Given the description of an element on the screen output the (x, y) to click on. 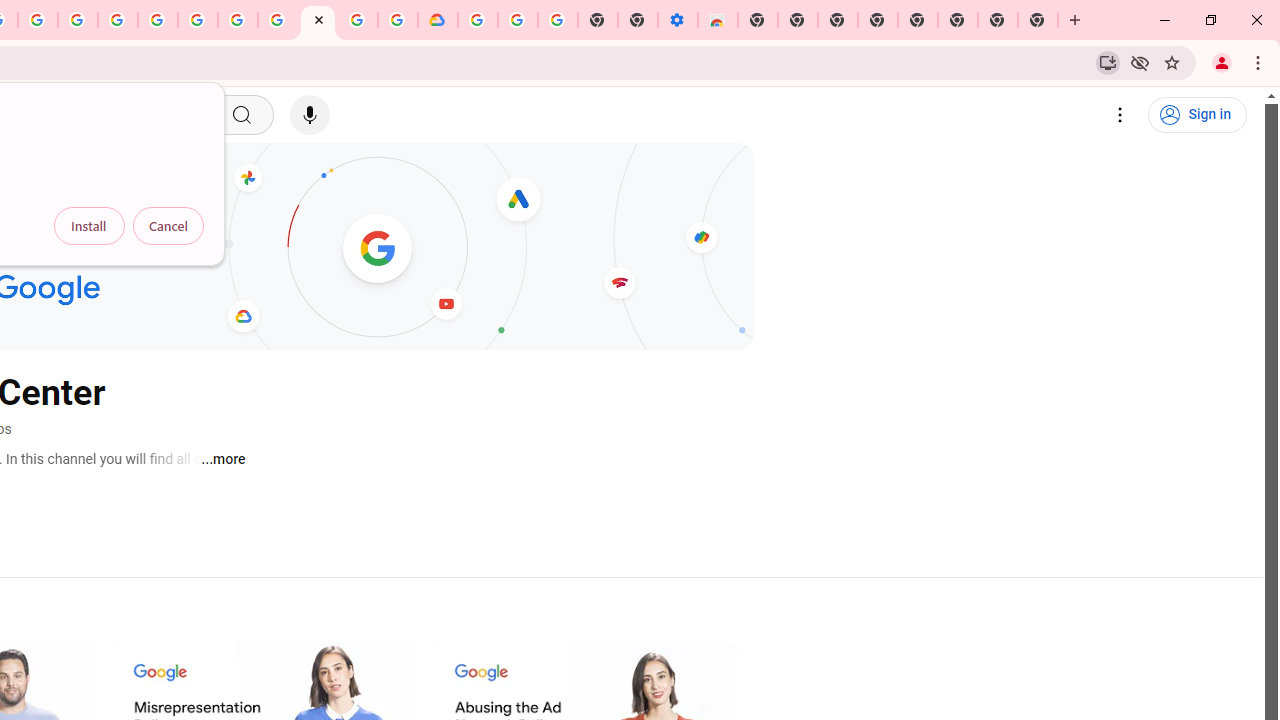
Cancel (168, 225)
Create your Google Account (357, 20)
Google Account Help (517, 20)
Chrome Web Store - Accessibility extensions (717, 20)
Sign in - Google Accounts (477, 20)
Search (240, 115)
Android TV Policies and Guidelines - Transparency Center (278, 20)
Search with your voice (309, 115)
Install YouTube (1107, 62)
Ad Settings (118, 20)
Google Account Help (237, 20)
New Tab (758, 20)
